Given the description of an element on the screen output the (x, y) to click on. 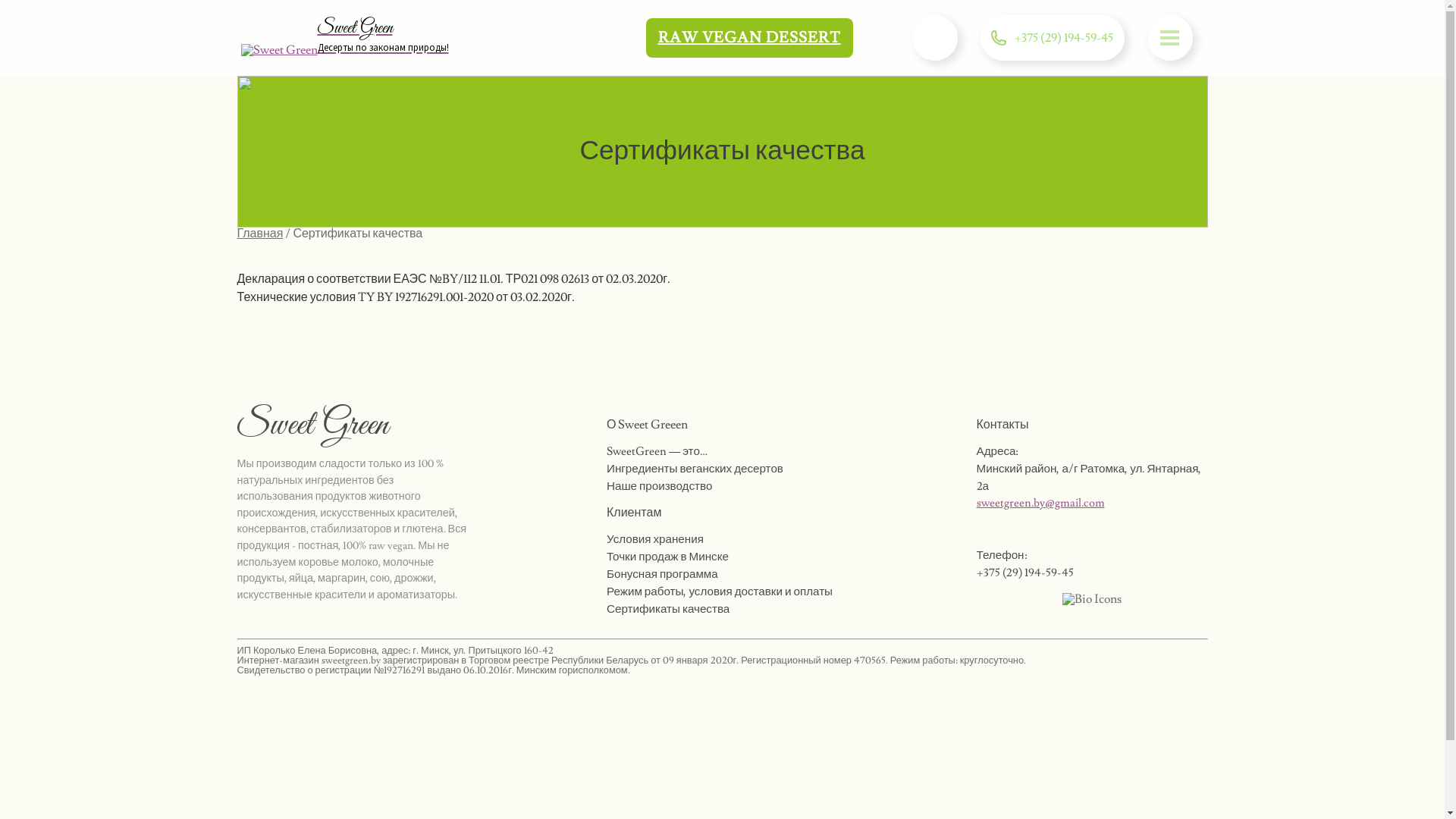
RAW VEGAN DESSERT Element type: text (749, 37)
sweetgreen.by@gmail.com Element type: text (1040, 502)
+375 (29) 194-59-45 Element type: text (1063, 37)
